Given the description of an element on the screen output the (x, y) to click on. 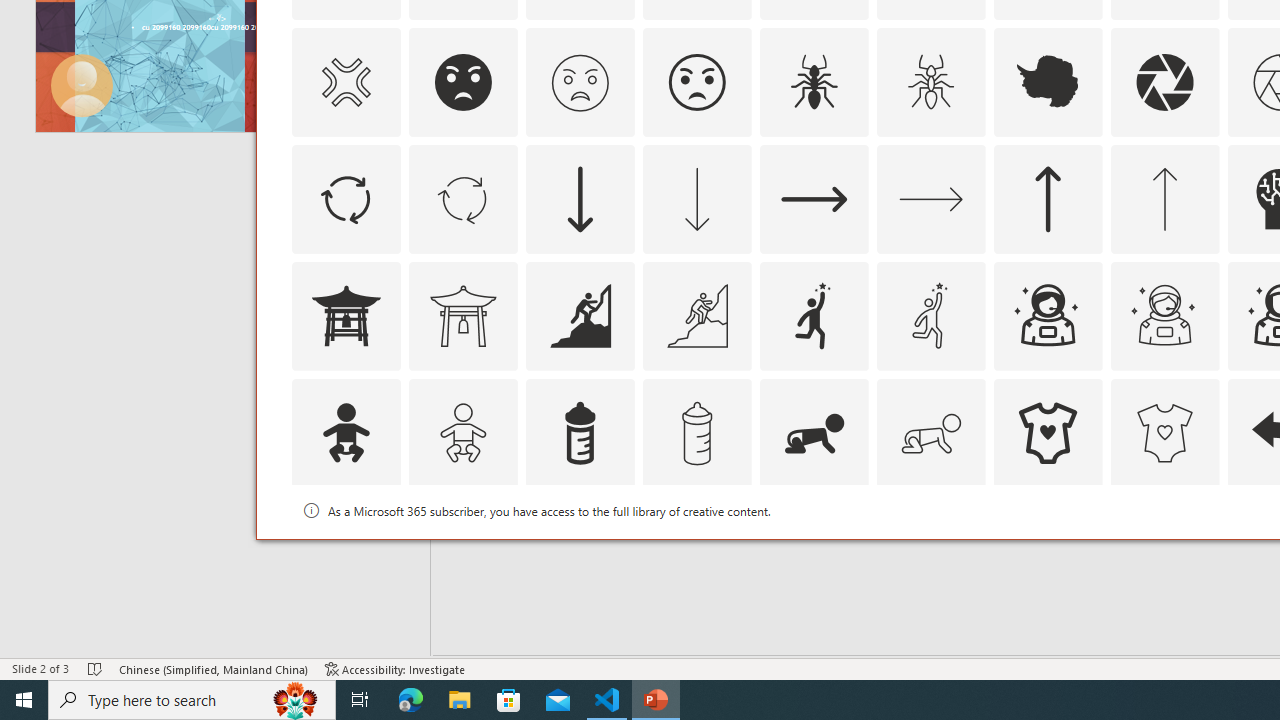
AutomationID: Icons_AsianTemple1_M (463, 316)
AutomationID: Icons_Aspiration_M (696, 316)
